Given the description of an element on the screen output the (x, y) to click on. 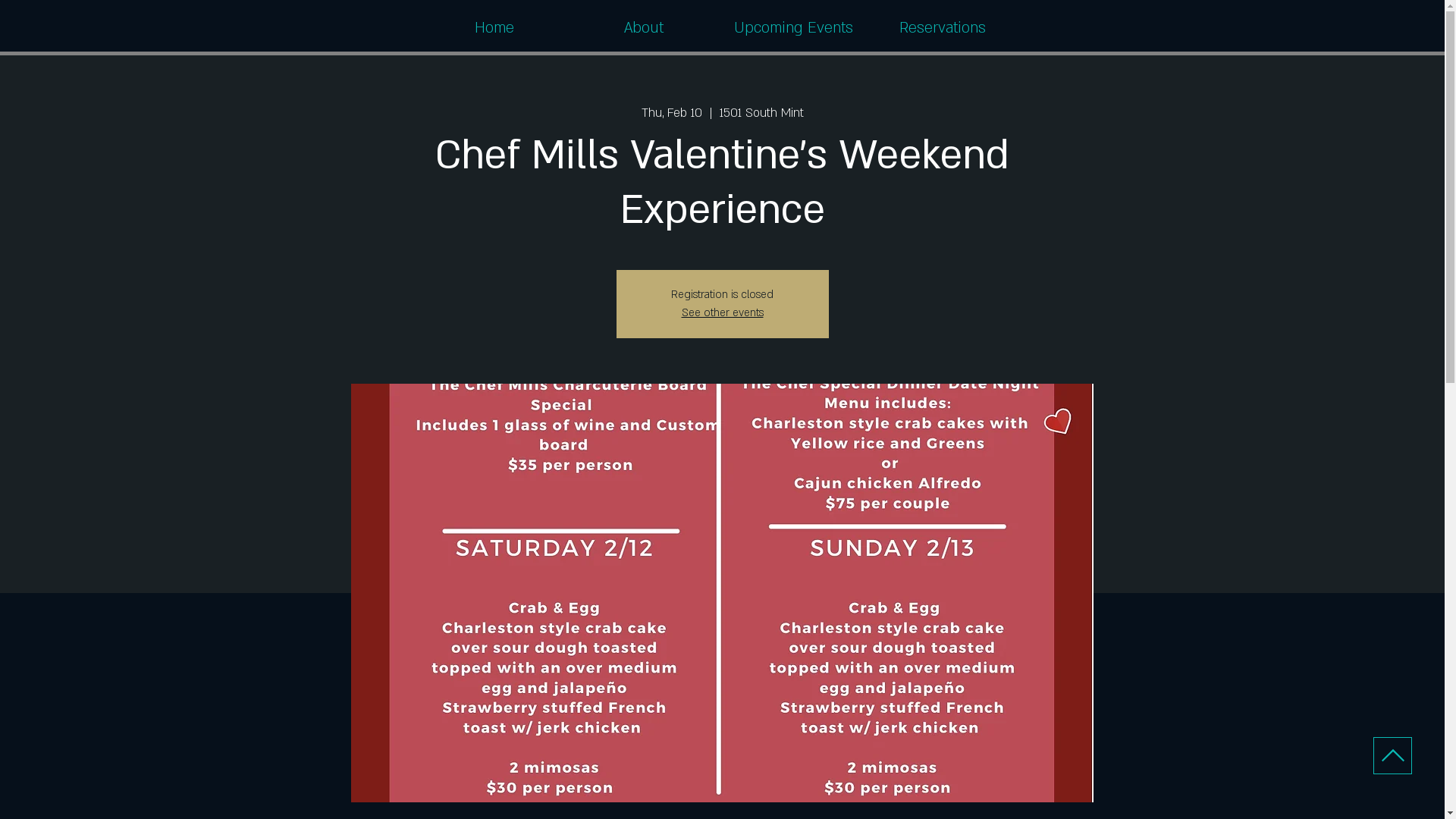
See other events Element type: text (721, 312)
Upcoming Events Element type: text (793, 28)
Reservations Element type: text (941, 28)
Home Element type: text (493, 28)
About Element type: text (643, 28)
